Given the description of an element on the screen output the (x, y) to click on. 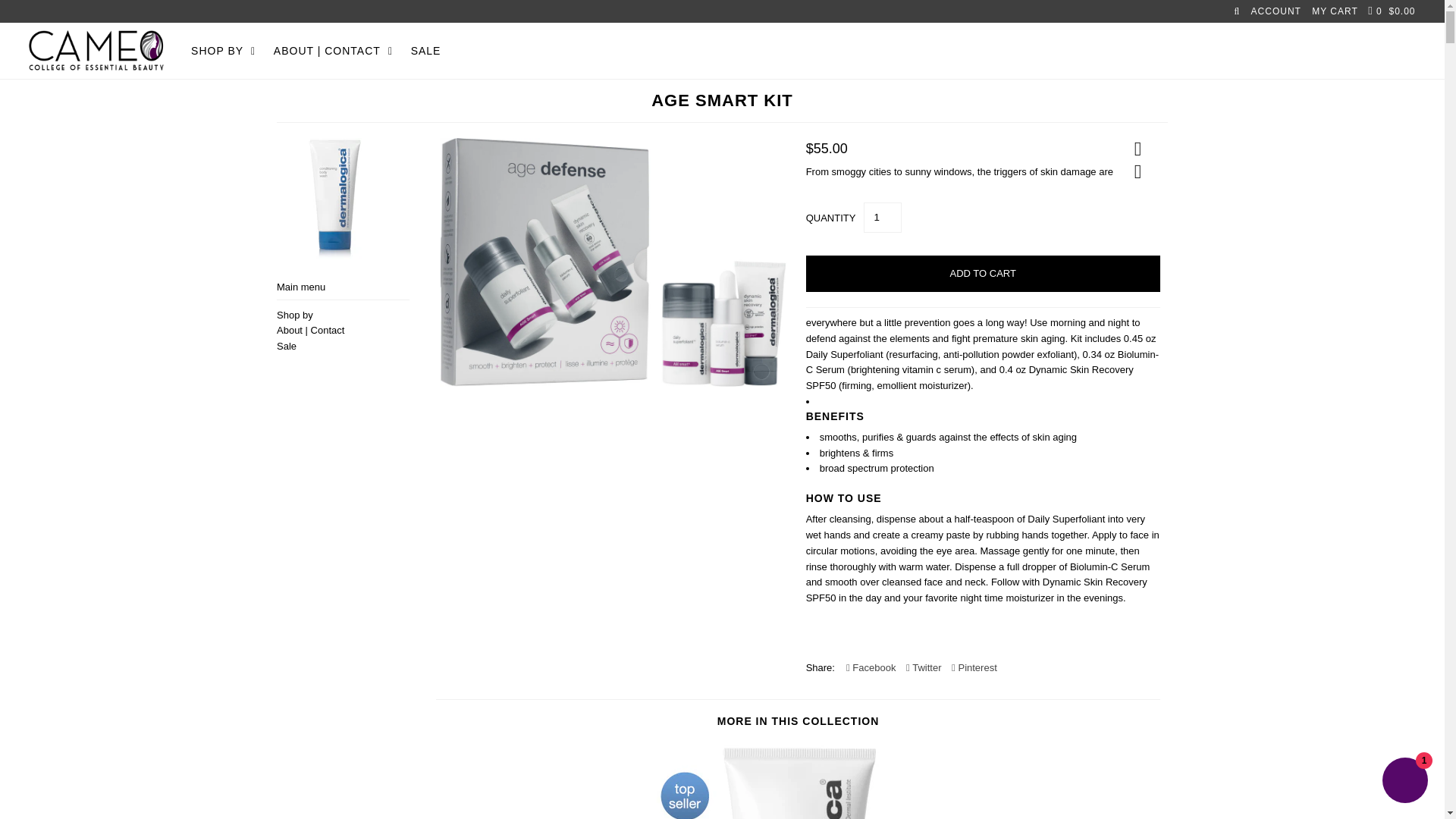
Sale (286, 346)
Pinterest (974, 668)
Add to Cart (983, 273)
Facebook (870, 668)
Shop by (294, 315)
Add to Cart (983, 273)
1 (882, 217)
SALE (425, 50)
SHOP BY (223, 50)
ACCOUNT (1275, 10)
Twitter (922, 668)
